Given the description of an element on the screen output the (x, y) to click on. 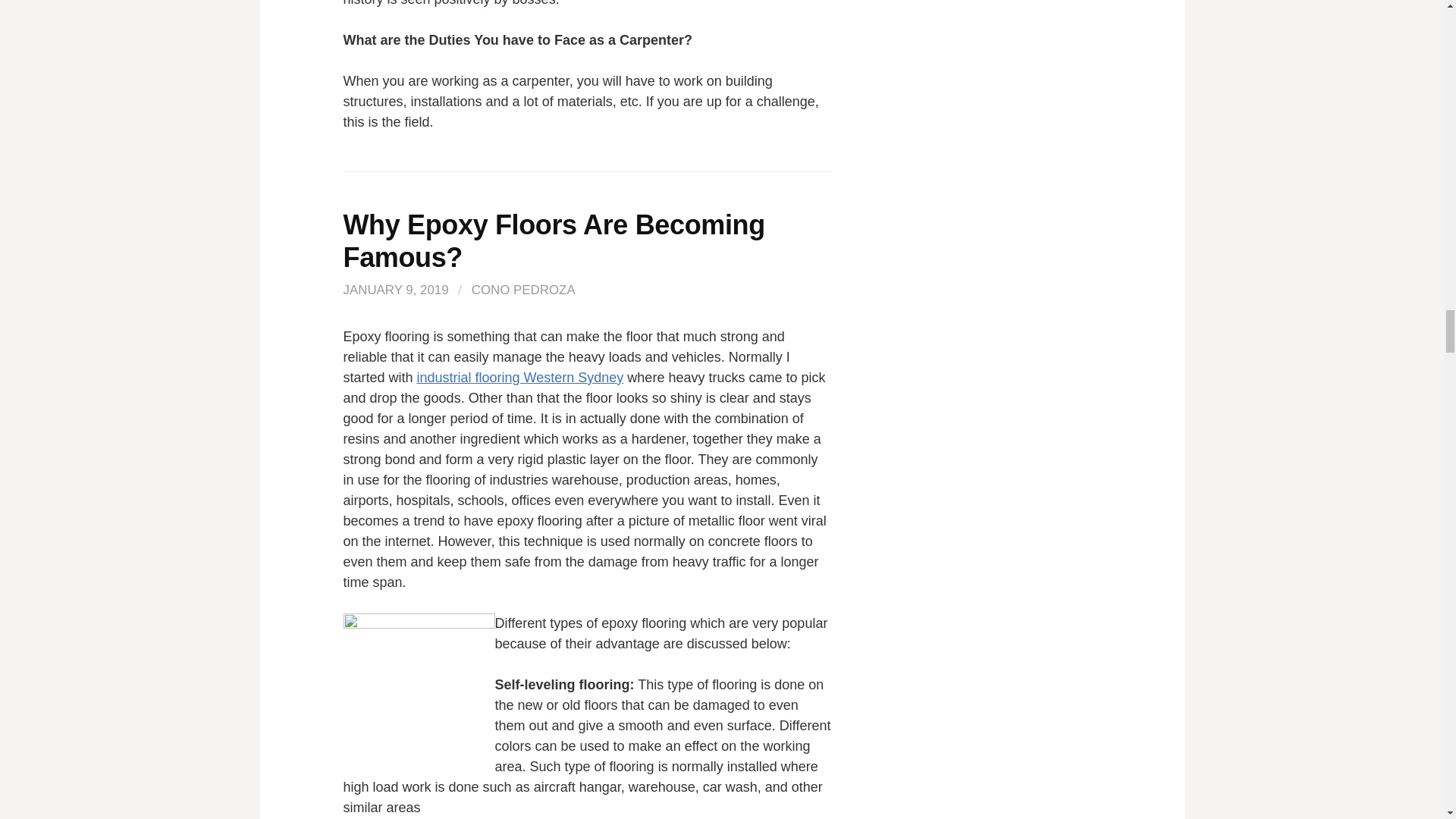
industrial flooring Western Sydney (520, 377)
CONO PEDROZA (523, 289)
mastercrete 1.jpg (418, 688)
Why Epoxy Floors Are Becoming Famous? (553, 240)
JANUARY 9, 2019 (395, 289)
